Given the description of an element on the screen output the (x, y) to click on. 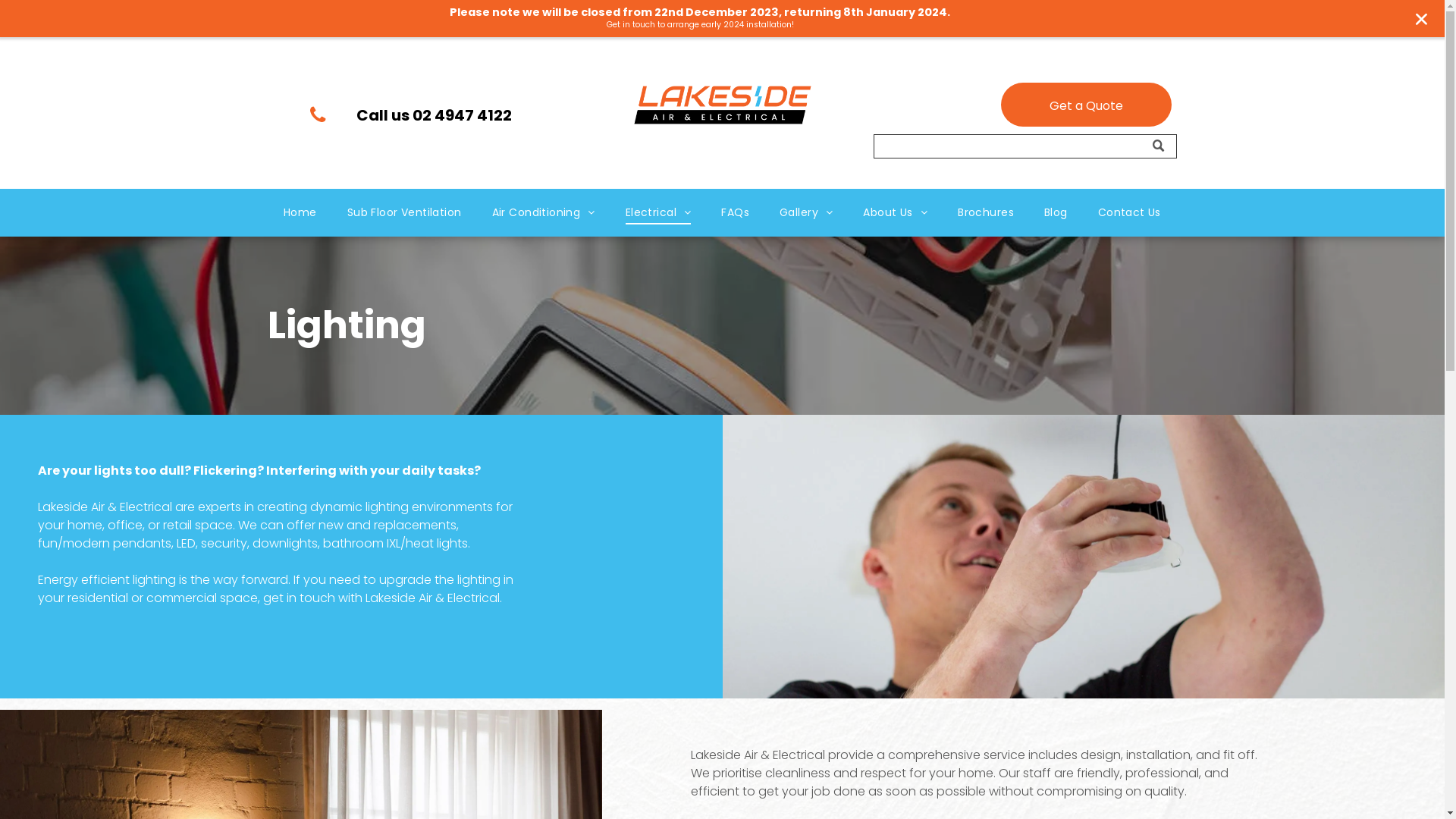
FAQs Element type: text (735, 212)
Gallery Element type: text (805, 212)
Contact Us Element type: text (1129, 212)
Electrical Element type: text (658, 212)
Air Conditioning Element type: text (543, 212)
Sub Floor Ventilation Element type: text (404, 212)
About Us Element type: text (894, 212)
Home Element type: text (300, 212)
Get a Quote Element type: text (1085, 104)
Brochures Element type: text (985, 212)
Blog Element type: text (1055, 212)
Call us 02 4947 4122 Element type: text (418, 114)
